Given the description of an element on the screen output the (x, y) to click on. 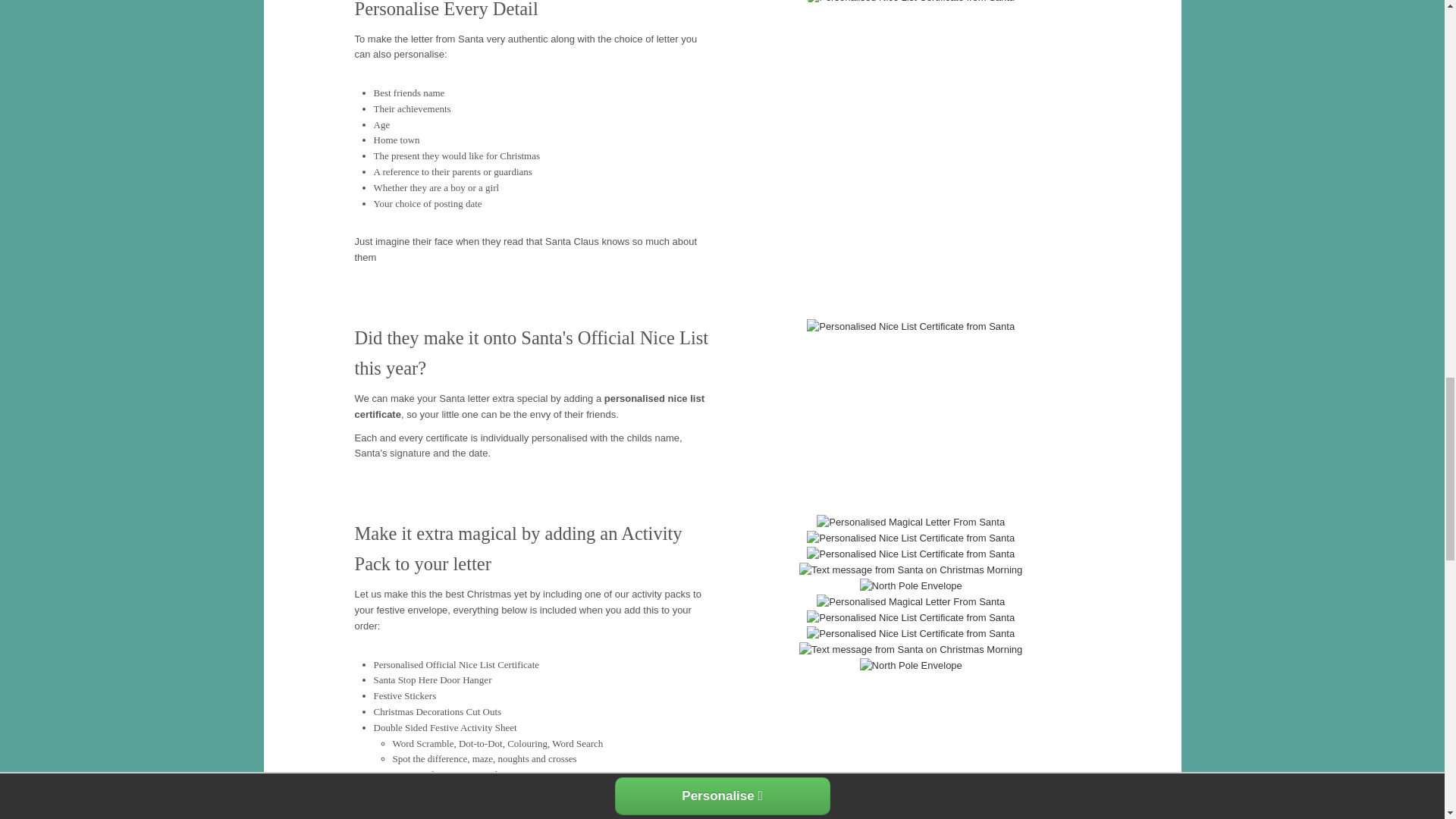
Personalised Nice List Certificate from Santa (910, 538)
Personalised Magical Letter From Santa (910, 602)
Personalised Magical Letter From Santa (910, 522)
Text message from Santa on Christmas Morning (910, 570)
North Pole Envelope (911, 586)
Personalised Nice List Certificate from Santa (910, 2)
Personalised Nice List Certificate from Santa (910, 326)
Personalised Nice List Certificate from Santa (910, 554)
